Given the description of an element on the screen output the (x, y) to click on. 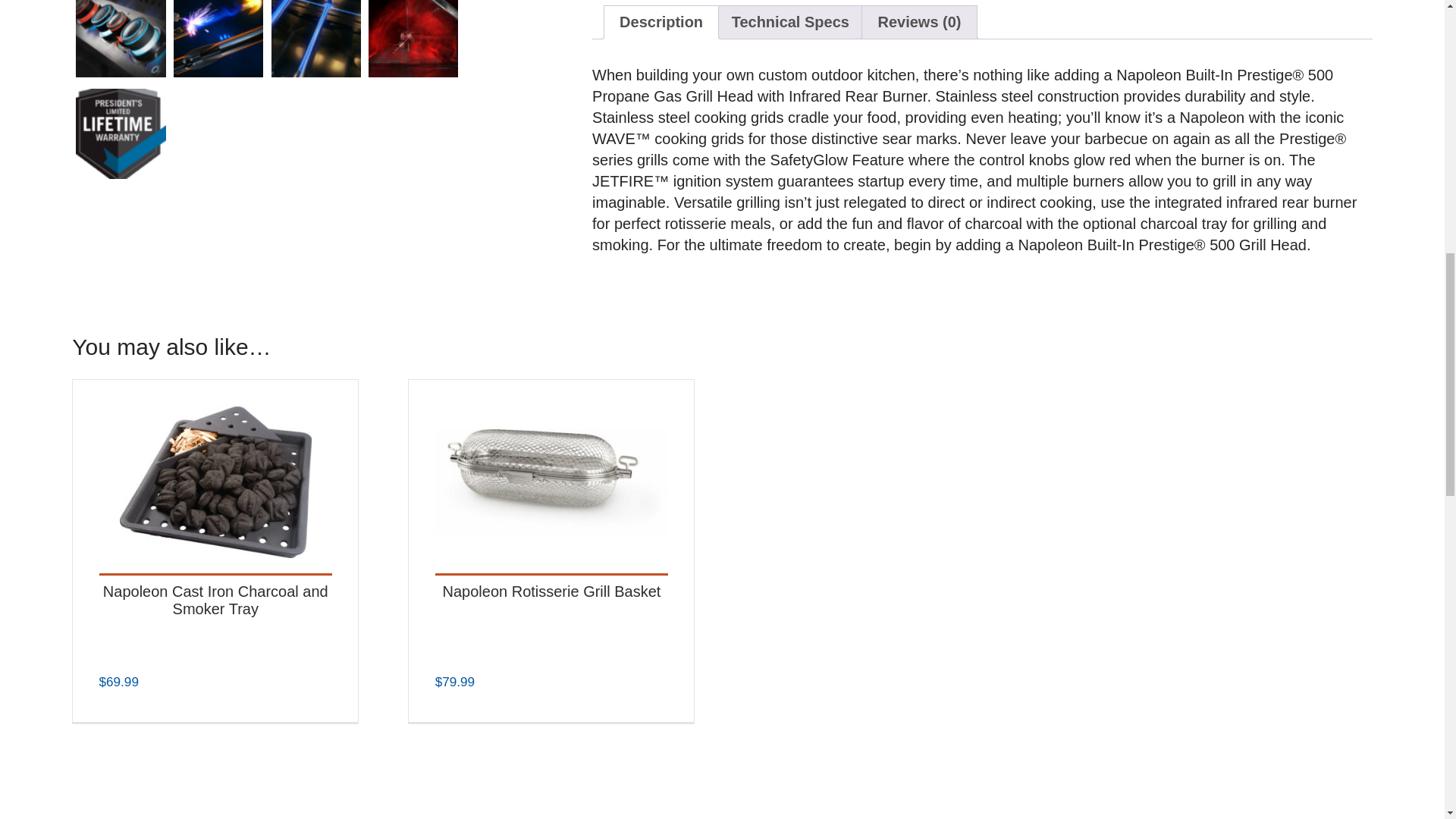
f5qiqedqozskxswos2cv.jpg (120, 38)
lkzppk7phqgtpnqci4es.png (120, 133)
qr5ndrbieunyxcme9vqg.jpg (315, 38)
sgnlai6w5mcwijnn2w2c.jpg (413, 38)
d63b0prlnottw8vhmgvx.jpg (218, 38)
